Given the description of an element on the screen output the (x, y) to click on. 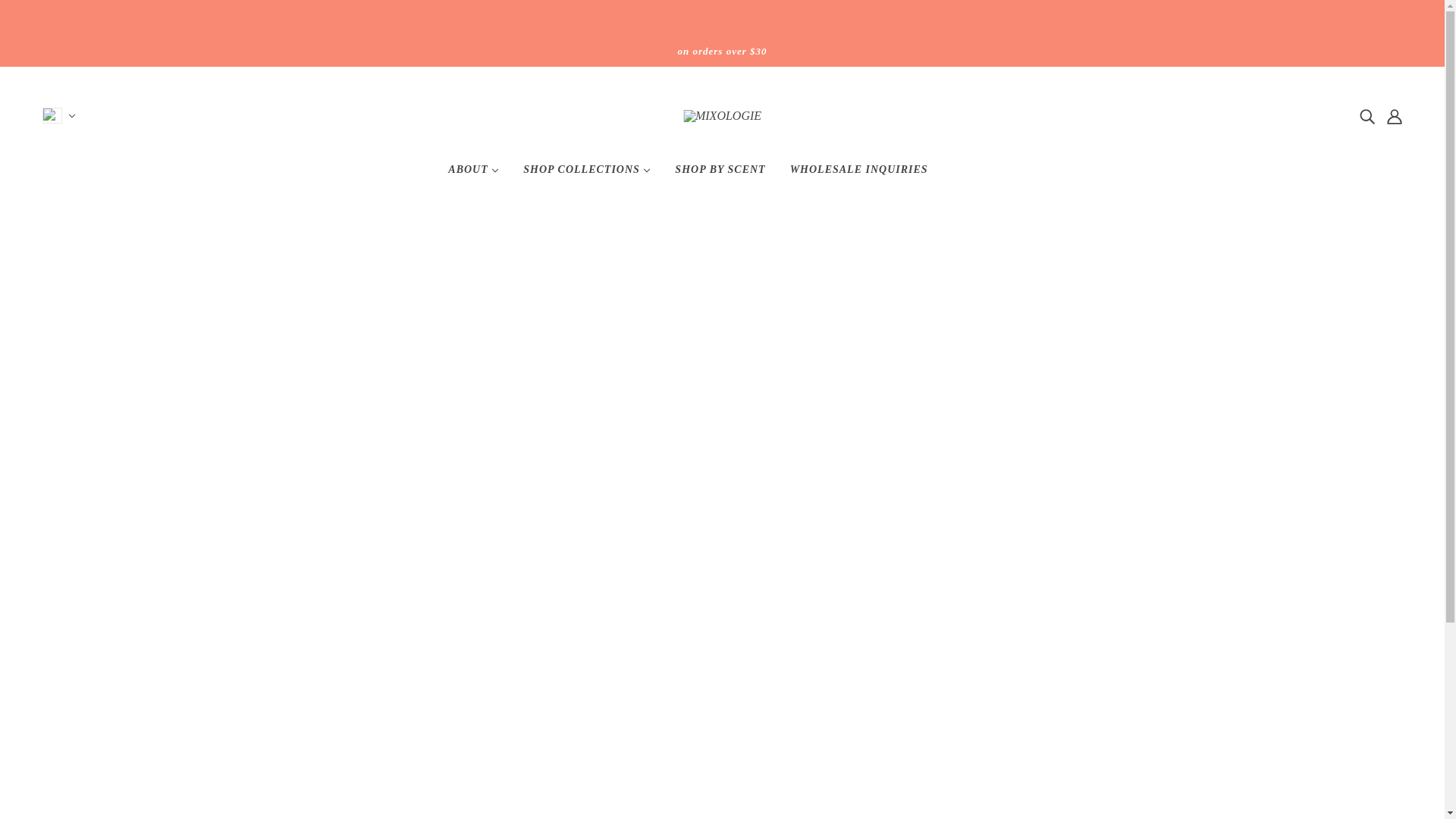
WHOLESALE INQUIRIES (858, 175)
SHOP COLLECTIONS  (586, 175)
MIXOLOGIE (721, 115)
SHOP BY SCENT (719, 175)
ABOUT  (473, 175)
